Given the description of an element on the screen output the (x, y) to click on. 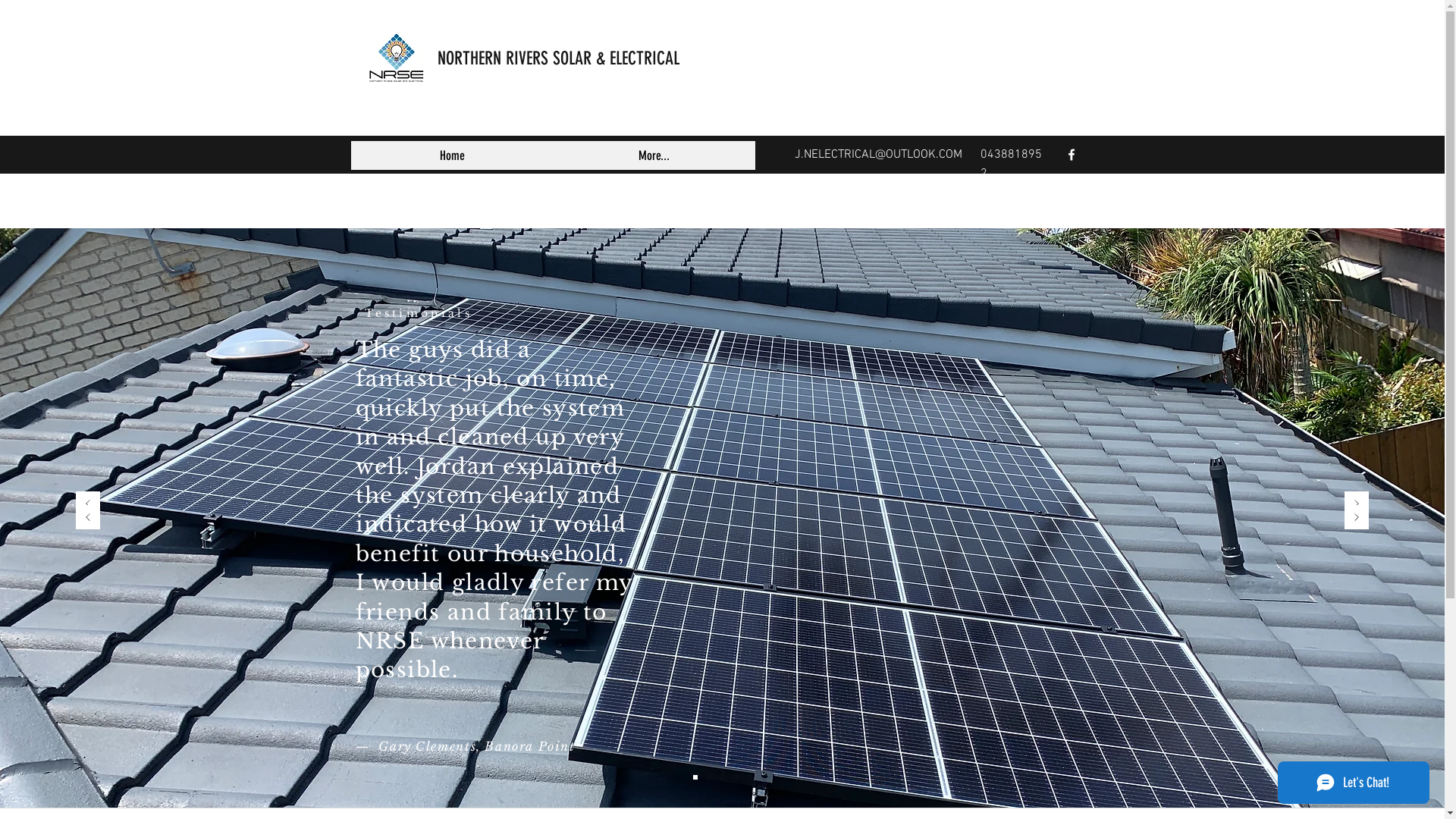
J.NELECTRICAL@OUTLOOK.COM Element type: text (878, 154)
0438818952 Element type: text (1010, 164)
Home Element type: text (451, 155)
